Given the description of an element on the screen output the (x, y) to click on. 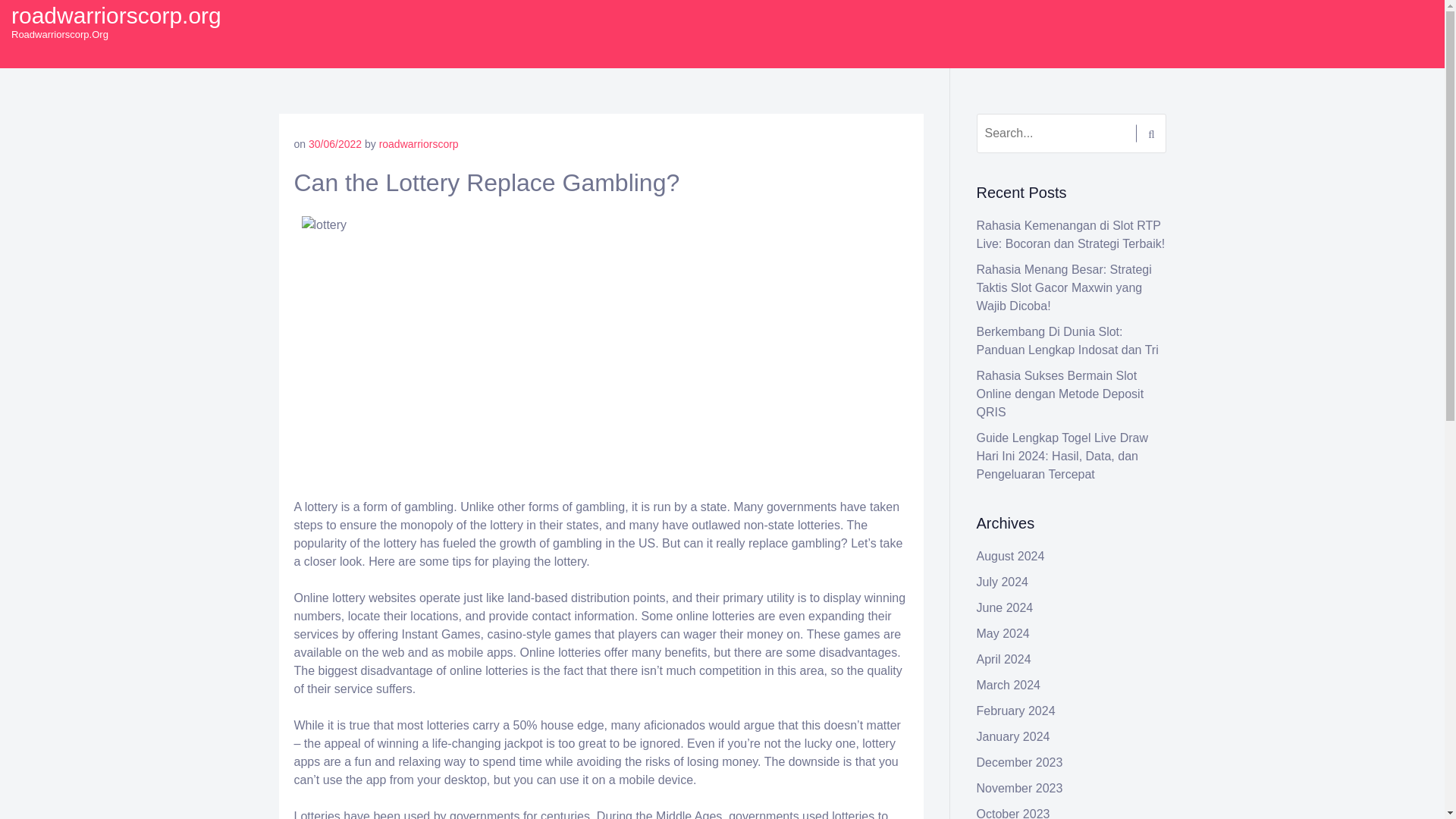
June 2024 (1004, 607)
March 2024 (1008, 684)
July 2024 (1002, 581)
August 2024 (1010, 555)
October 2023 (1012, 813)
February 2024 (1015, 710)
December 2023 (1019, 762)
